Given the description of an element on the screen output the (x, y) to click on. 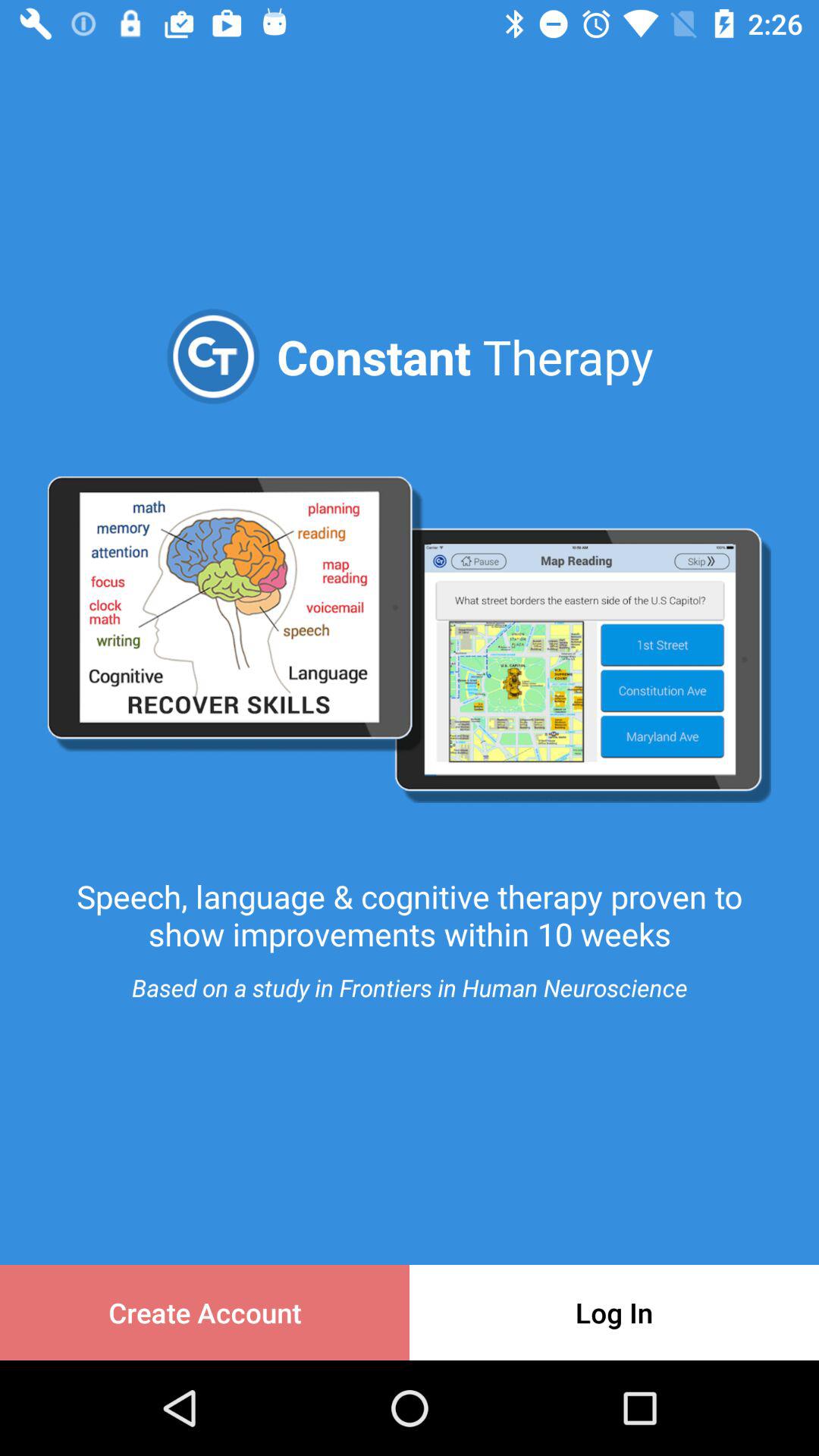
turn off the icon next to the log in item (204, 1312)
